Given the description of an element on the screen output the (x, y) to click on. 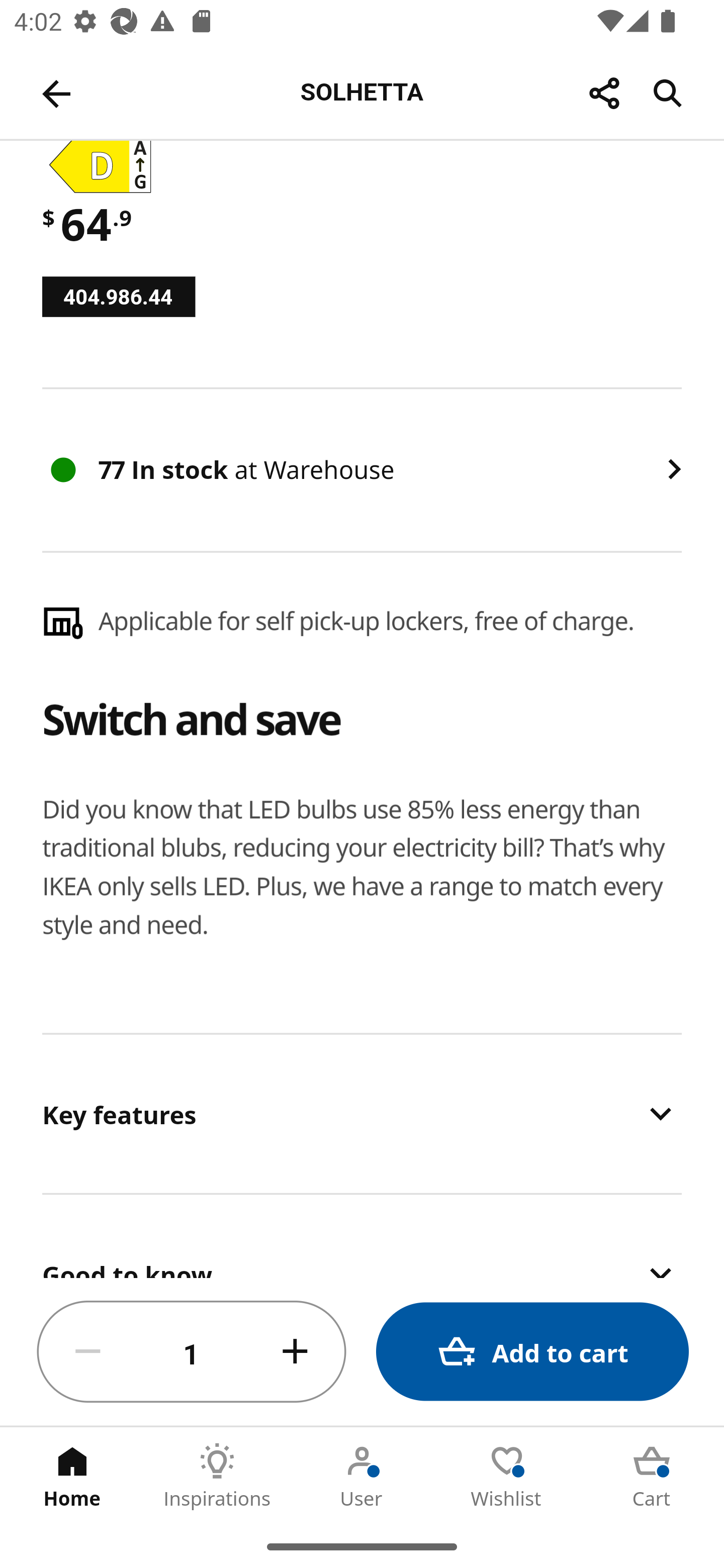
77 In stock at Warehouse (361, 469)
Key features (361, 1113)
Good to know (361, 1236)
Add to cart (531, 1352)
1 (191, 1352)
Home
Tab 1 of 5 (72, 1476)
Inspirations
Tab 2 of 5 (216, 1476)
User
Tab 3 of 5 (361, 1476)
Wishlist
Tab 4 of 5 (506, 1476)
Cart
Tab 5 of 5 (651, 1476)
